Given the description of an element on the screen output the (x, y) to click on. 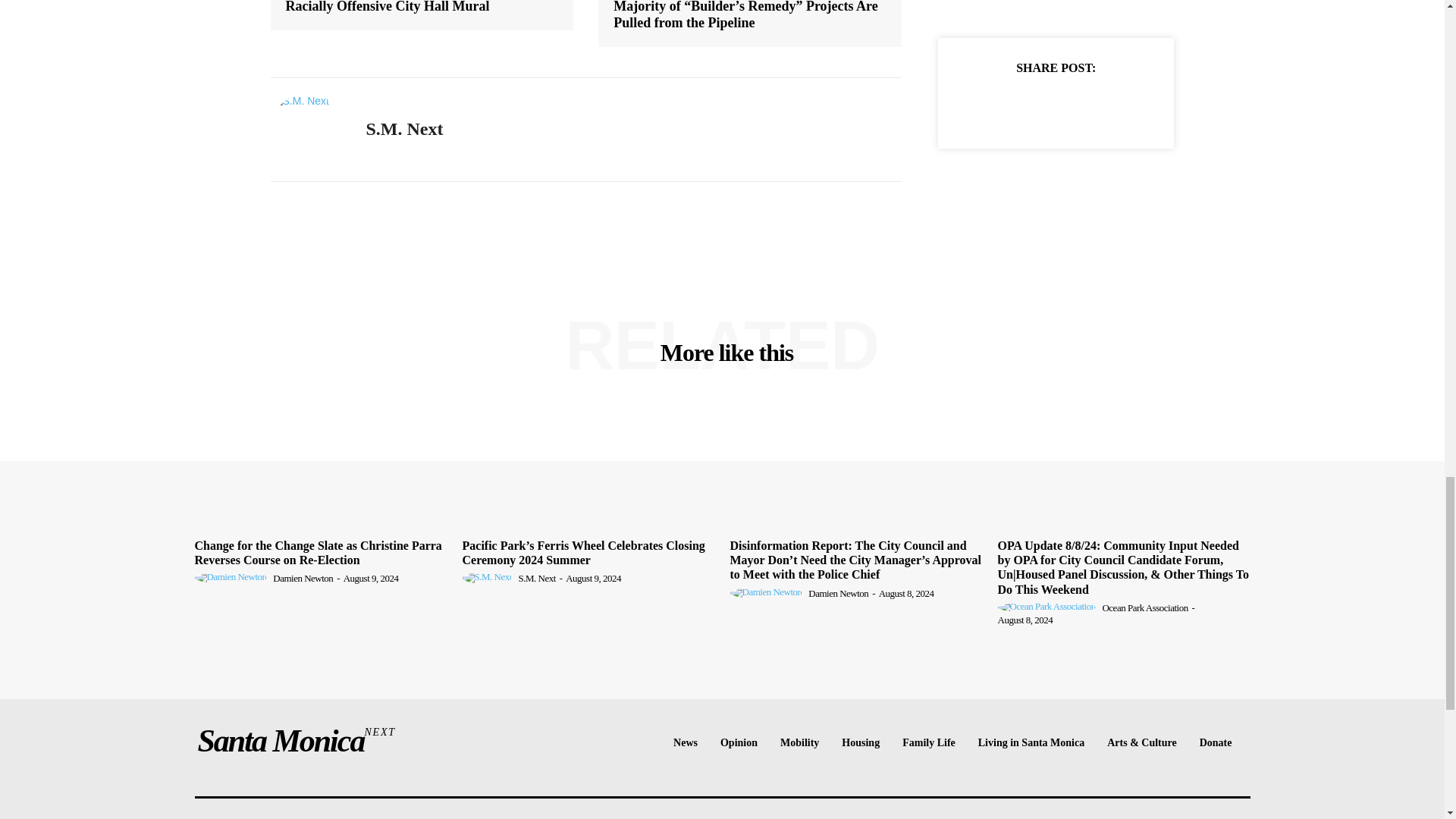
S.M. Next (305, 129)
